Given the description of an element on the screen output the (x, y) to click on. 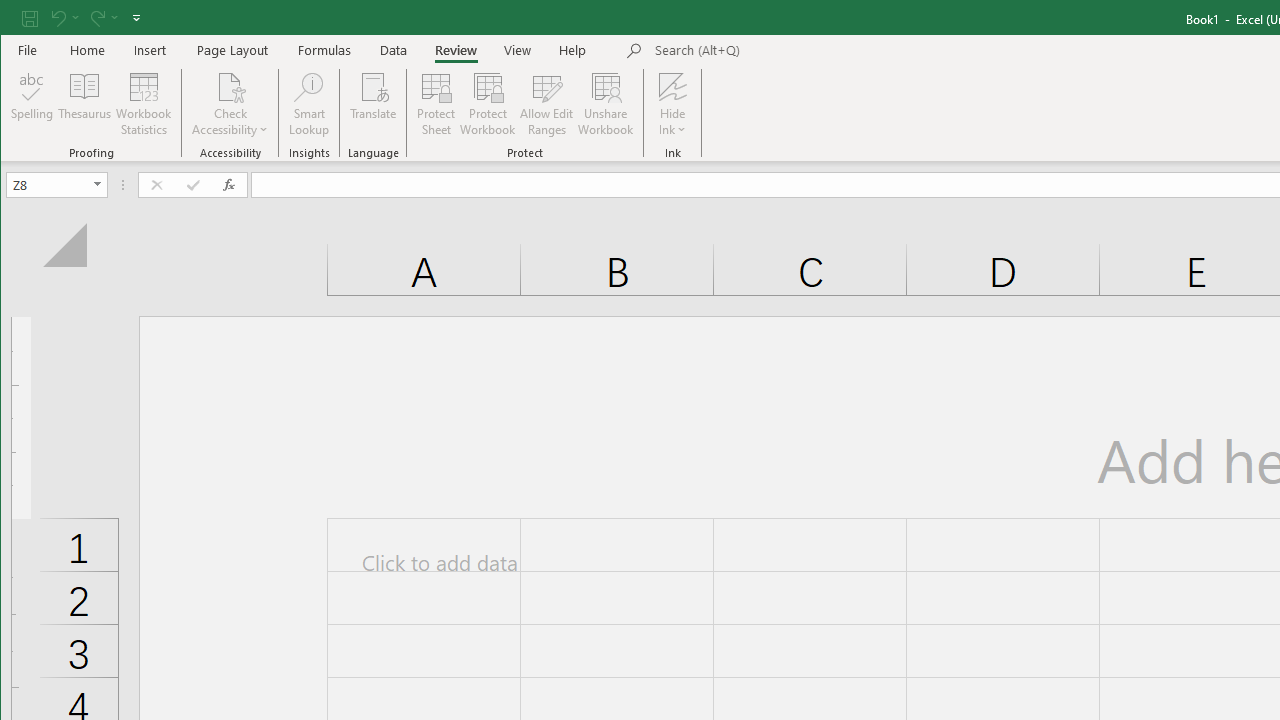
Workbook Statistics (143, 104)
Unshare Workbook (606, 104)
Protect Sheet... (436, 104)
Check Accessibility (230, 86)
Microsoft search (794, 51)
Protect Workbook... (488, 104)
